Given the description of an element on the screen output the (x, y) to click on. 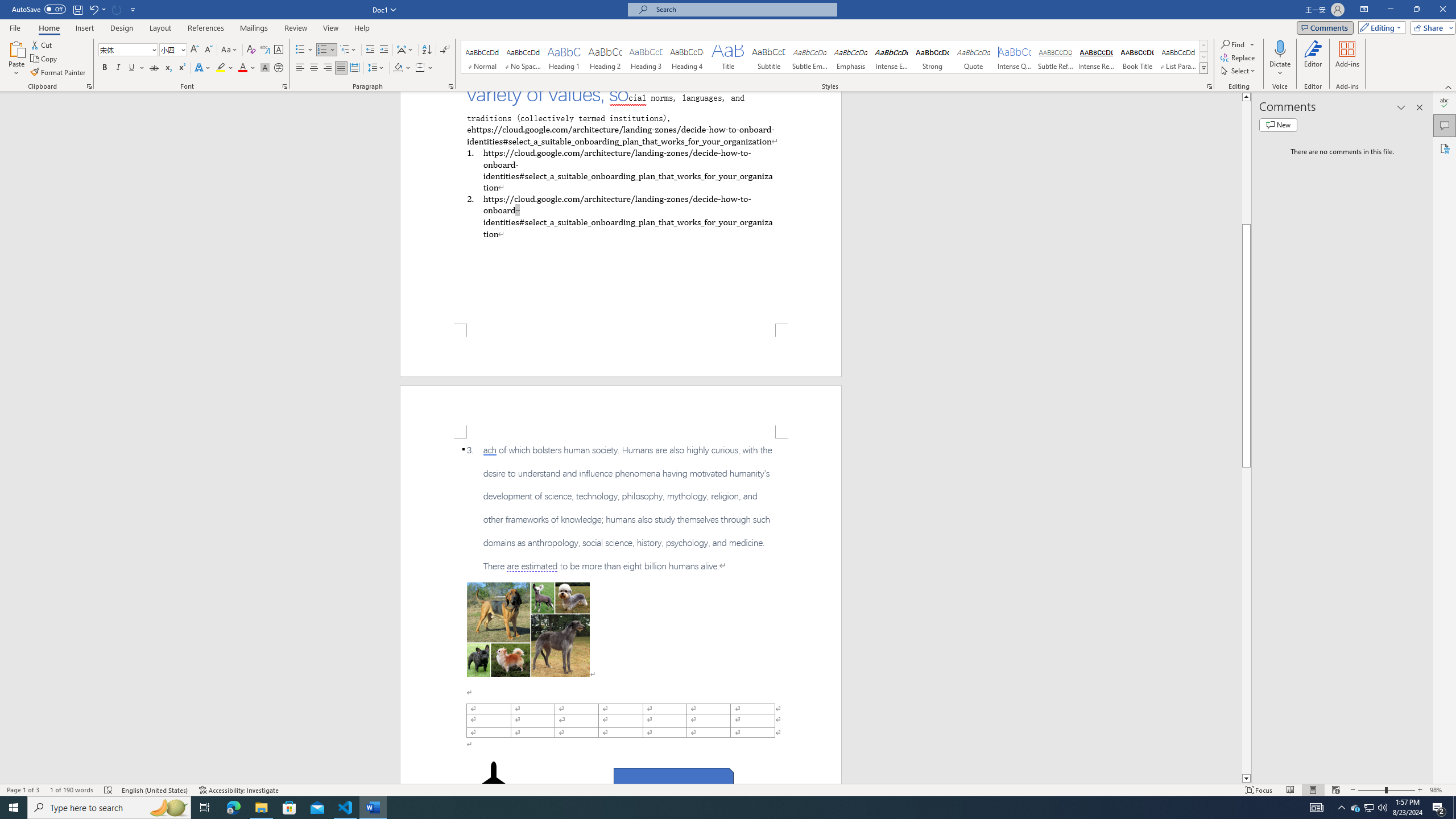
Font Color (246, 67)
Line up (1245, 96)
Can't Repeat (117, 9)
Shrink Font (208, 49)
Strikethrough (154, 67)
Subtle Emphasis (809, 56)
Accessibility Checker Accessibility: Investigate (239, 790)
Heading 1 (564, 56)
Emphasis (849, 56)
Page up (1245, 162)
